Given the description of an element on the screen output the (x, y) to click on. 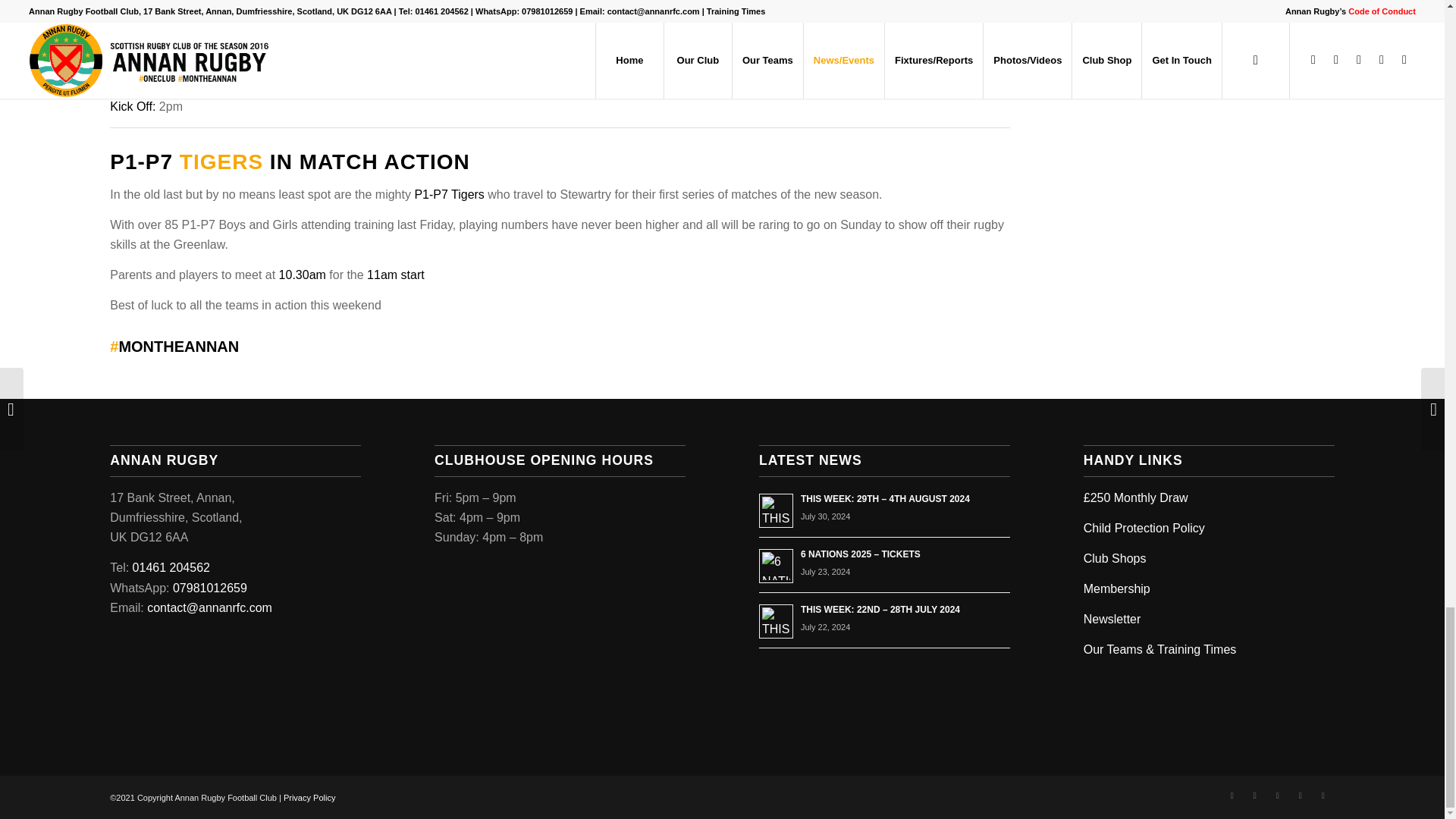
Mail (1323, 794)
Vimeo (1299, 794)
Flickr (1277, 794)
Twitter (1254, 794)
Facebook (1232, 794)
